Given the description of an element on the screen output the (x, y) to click on. 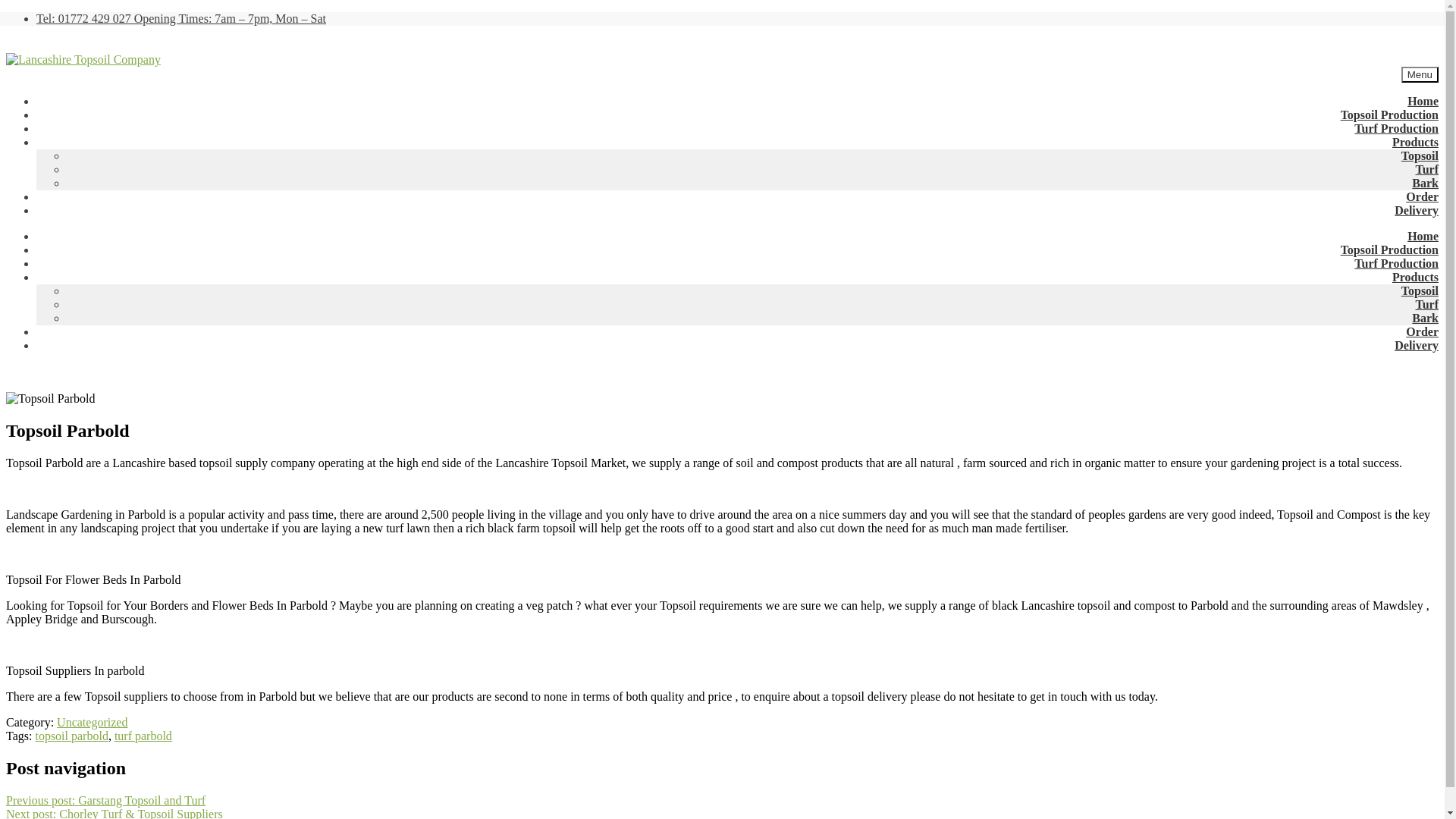
Uncategorized (92, 721)
Previous post: Garstang Topsoil and Turf (105, 799)
topsoil parbold (70, 735)
turf parbold (143, 735)
